Given the description of an element on the screen output the (x, y) to click on. 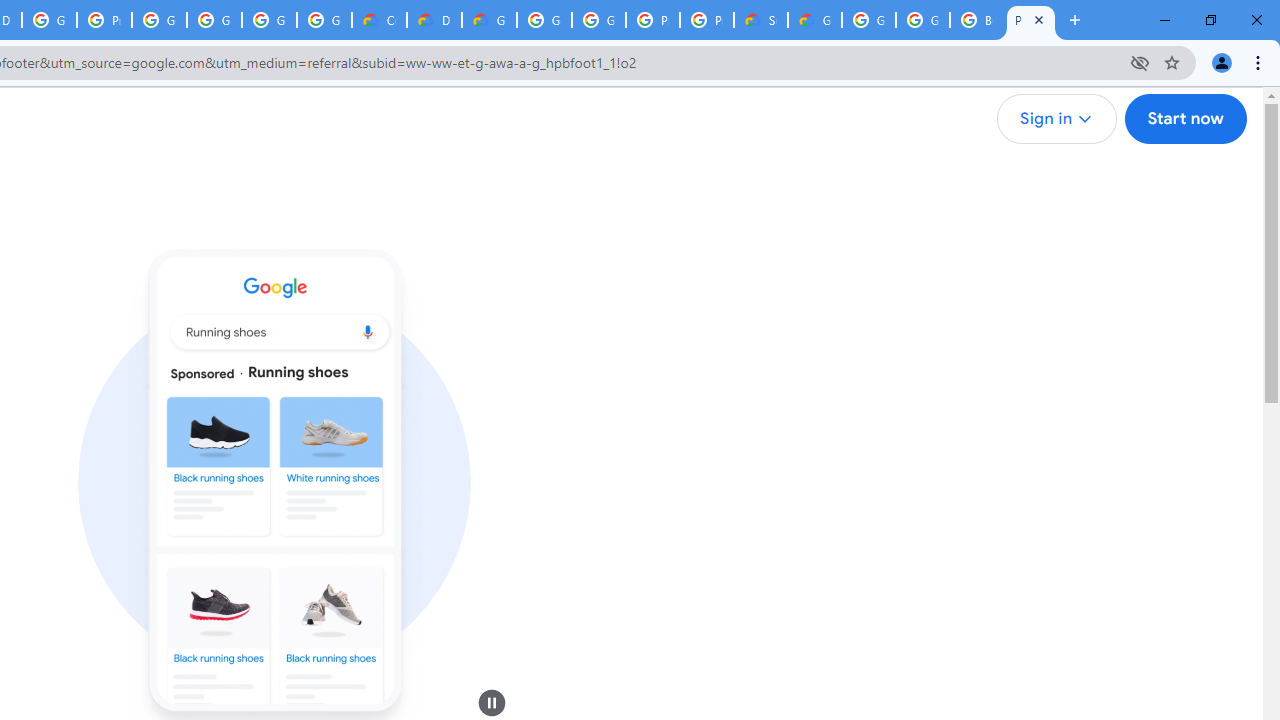
Google Workspace - Specific Terms (268, 20)
Support Hub | Google Cloud (760, 20)
Google Cloud Platform (922, 20)
Google Cloud Platform (598, 20)
